Given the description of an element on the screen output the (x, y) to click on. 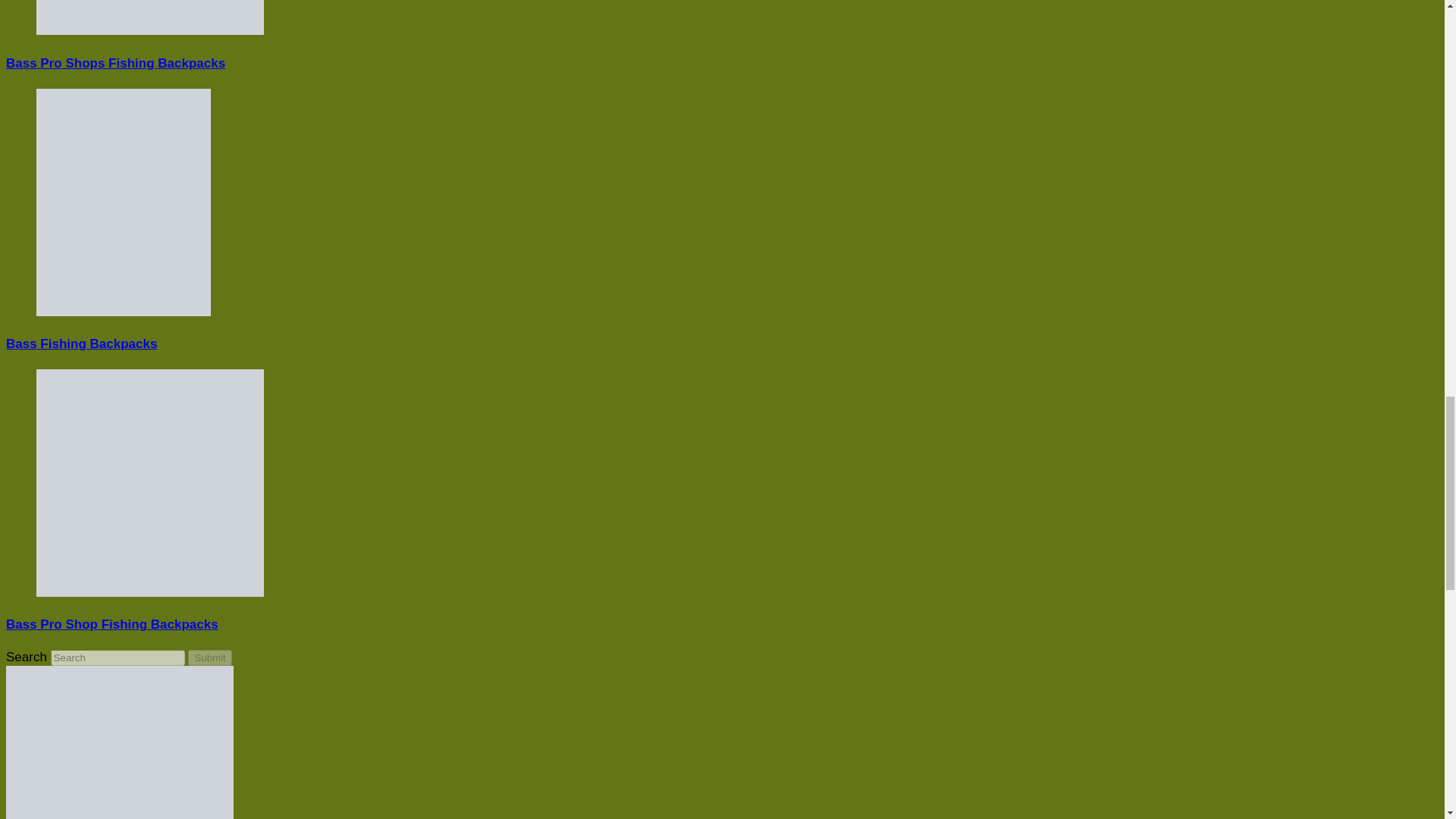
Bass Pro Shops Fishing Backpacks (115, 63)
Fishing Charters in US Banner (118, 742)
Bass Pro Shop Fishing Backpacks (111, 624)
Submit (209, 657)
Bass Fishing Backpacks (81, 343)
